Given the description of an element on the screen output the (x, y) to click on. 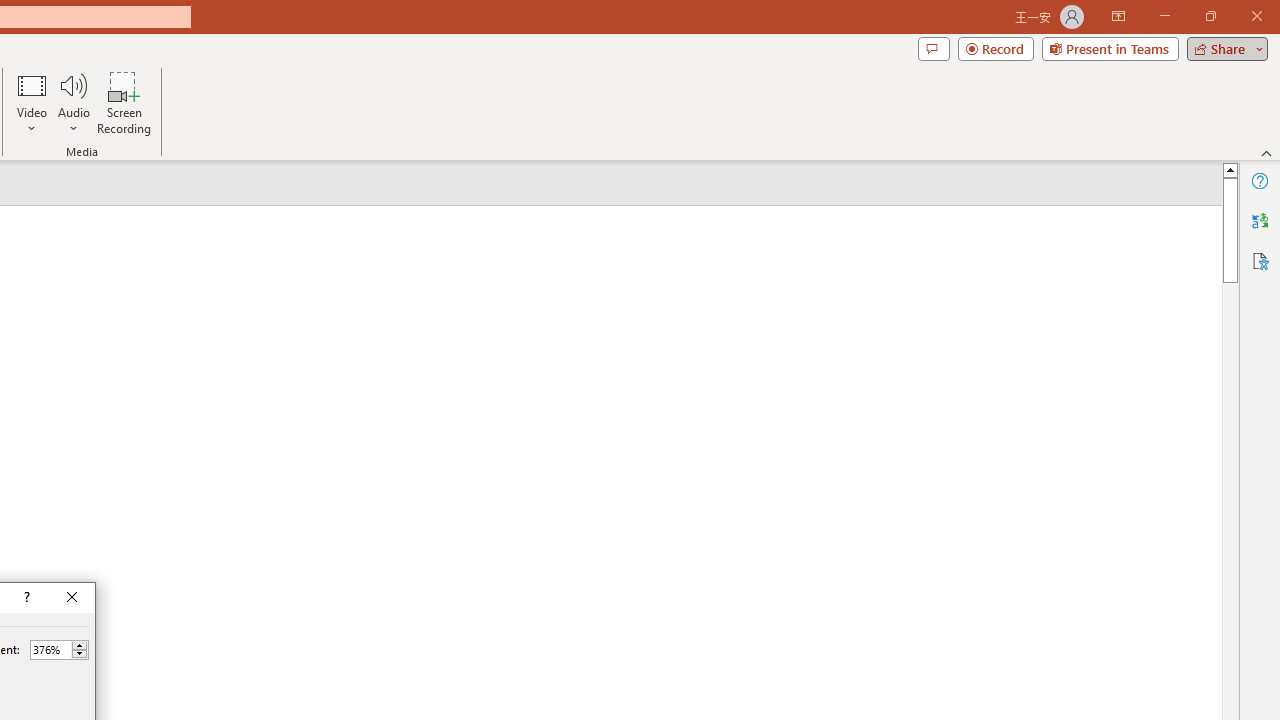
Percent (50, 649)
Video (31, 102)
Context help (25, 597)
